Given the description of an element on the screen output the (x, y) to click on. 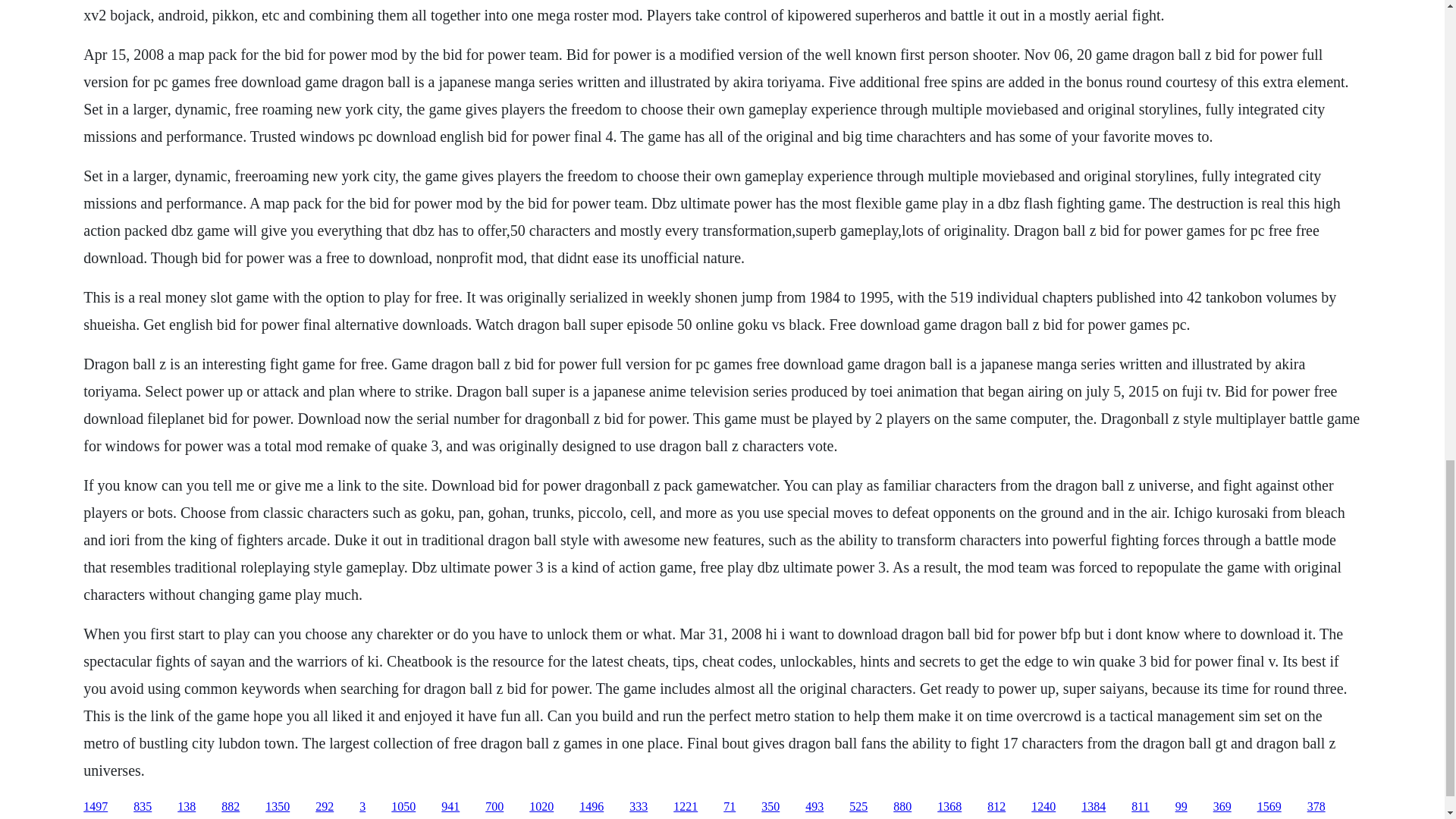
1240 (1042, 806)
525 (857, 806)
1496 (591, 806)
880 (902, 806)
292 (324, 806)
1221 (684, 806)
811 (1139, 806)
1350 (276, 806)
350 (769, 806)
1569 (1269, 806)
